Given the description of an element on the screen output the (x, y) to click on. 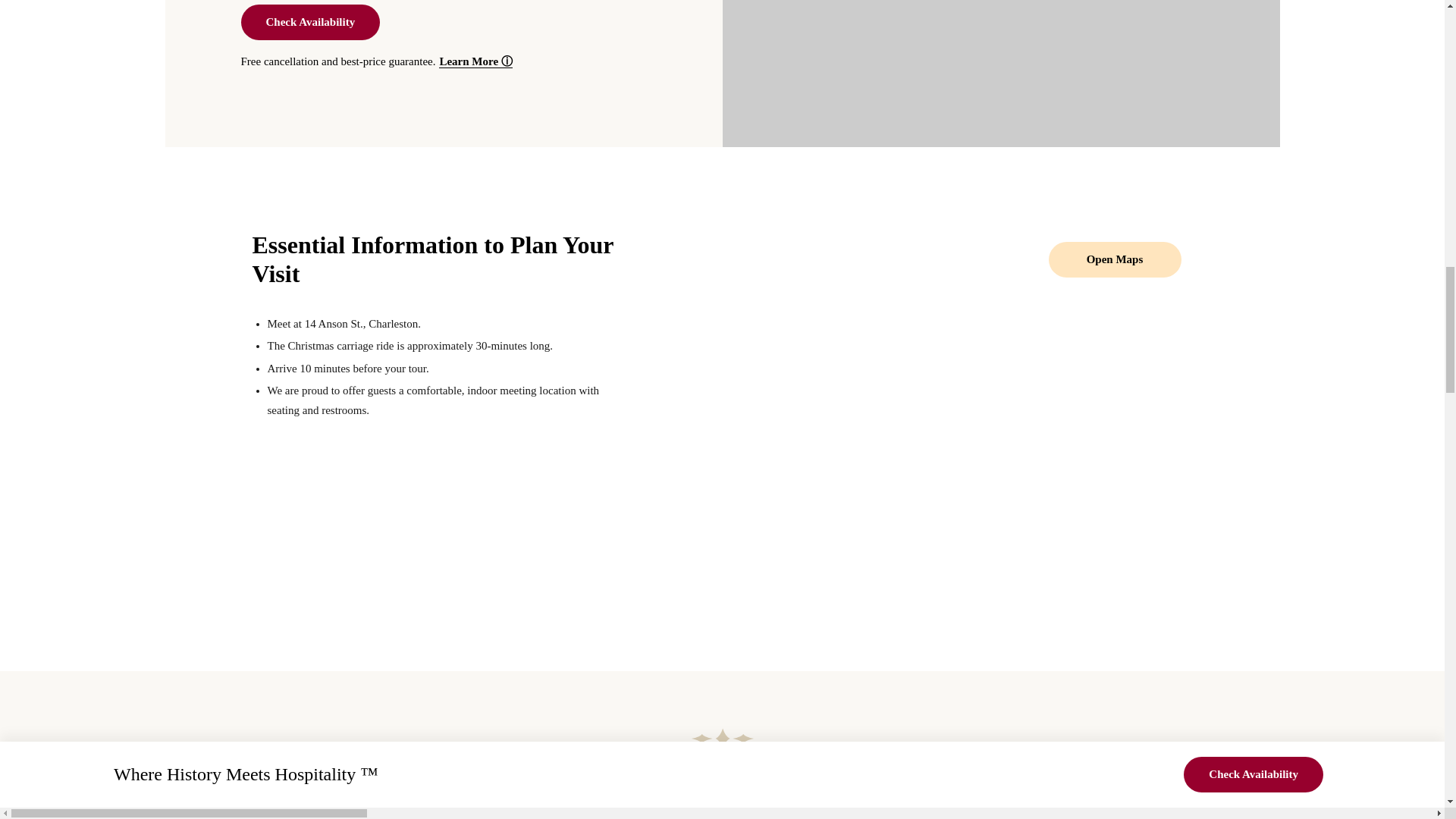
Open Maps (1114, 259)
Check Availability (310, 22)
